Given the description of an element on the screen output the (x, y) to click on. 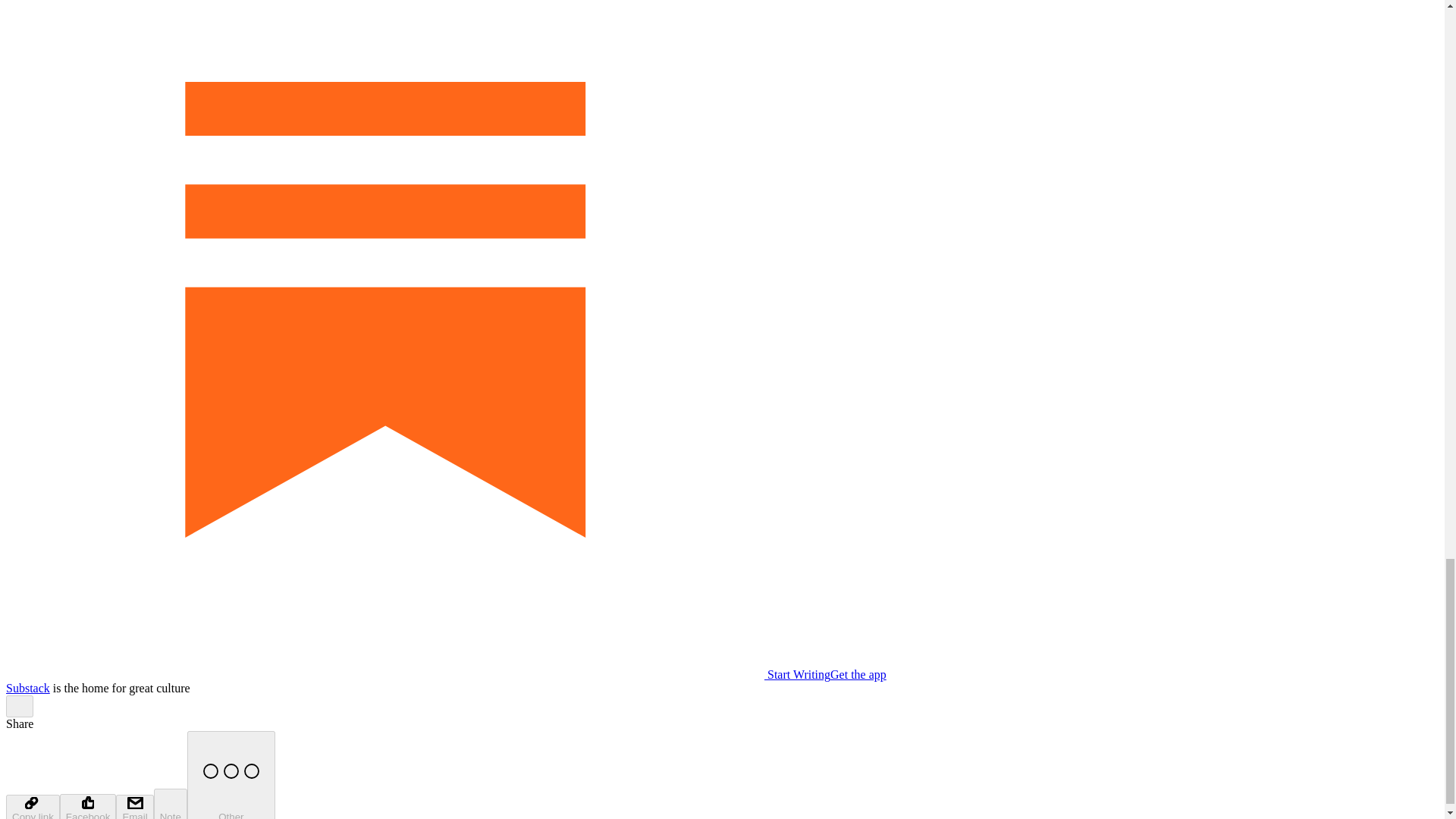
Start Writing (417, 674)
Get the app (857, 674)
Substack (27, 687)
